Given the description of an element on the screen output the (x, y) to click on. 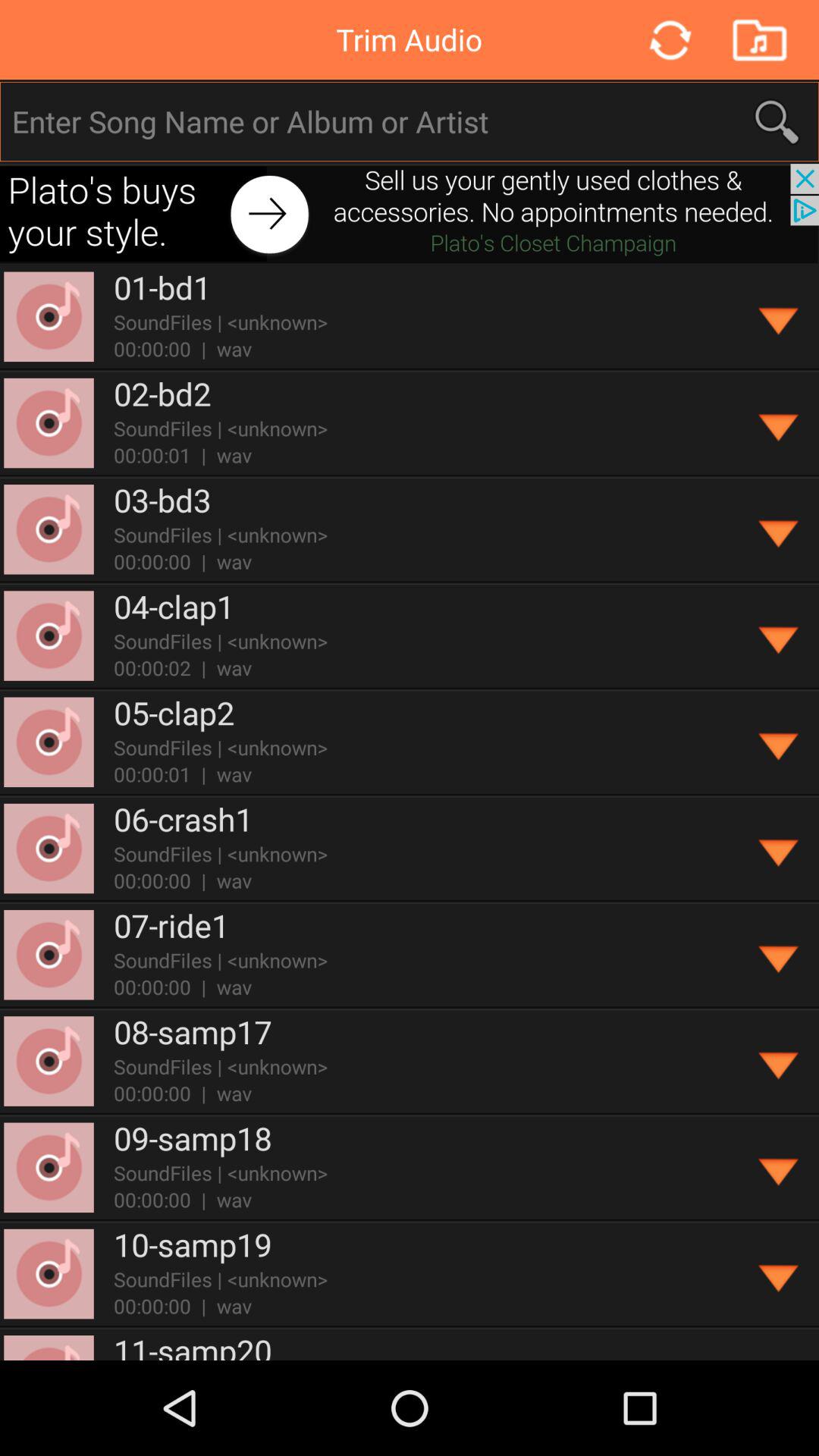
open dropdown menu (779, 1061)
